Given the description of an element on the screen output the (x, y) to click on. 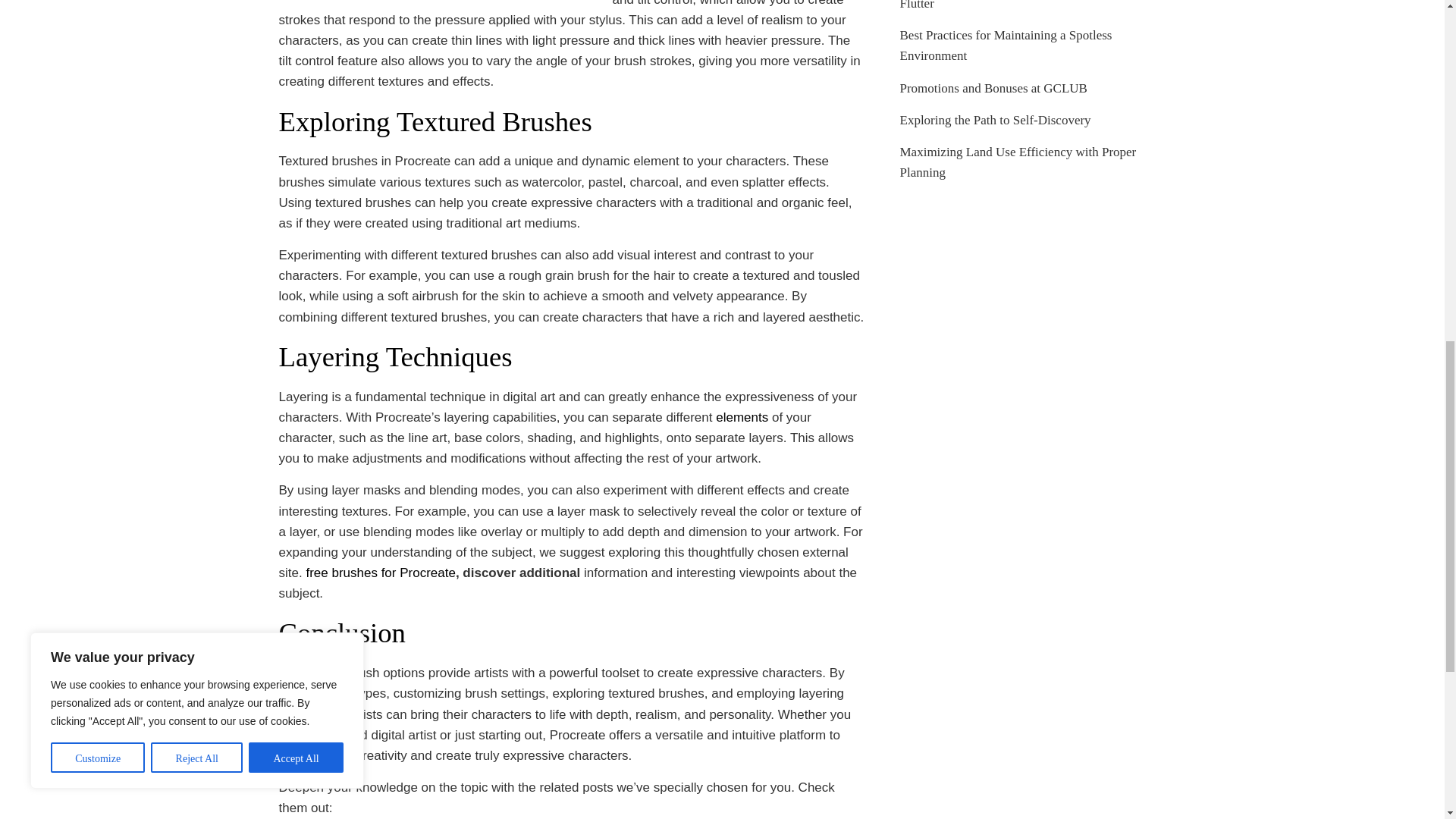
elements (742, 417)
free brushes for Procreate (379, 572)
The Future of Cross-Platform Development with Flutter (1025, 5)
